Given the description of an element on the screen output the (x, y) to click on. 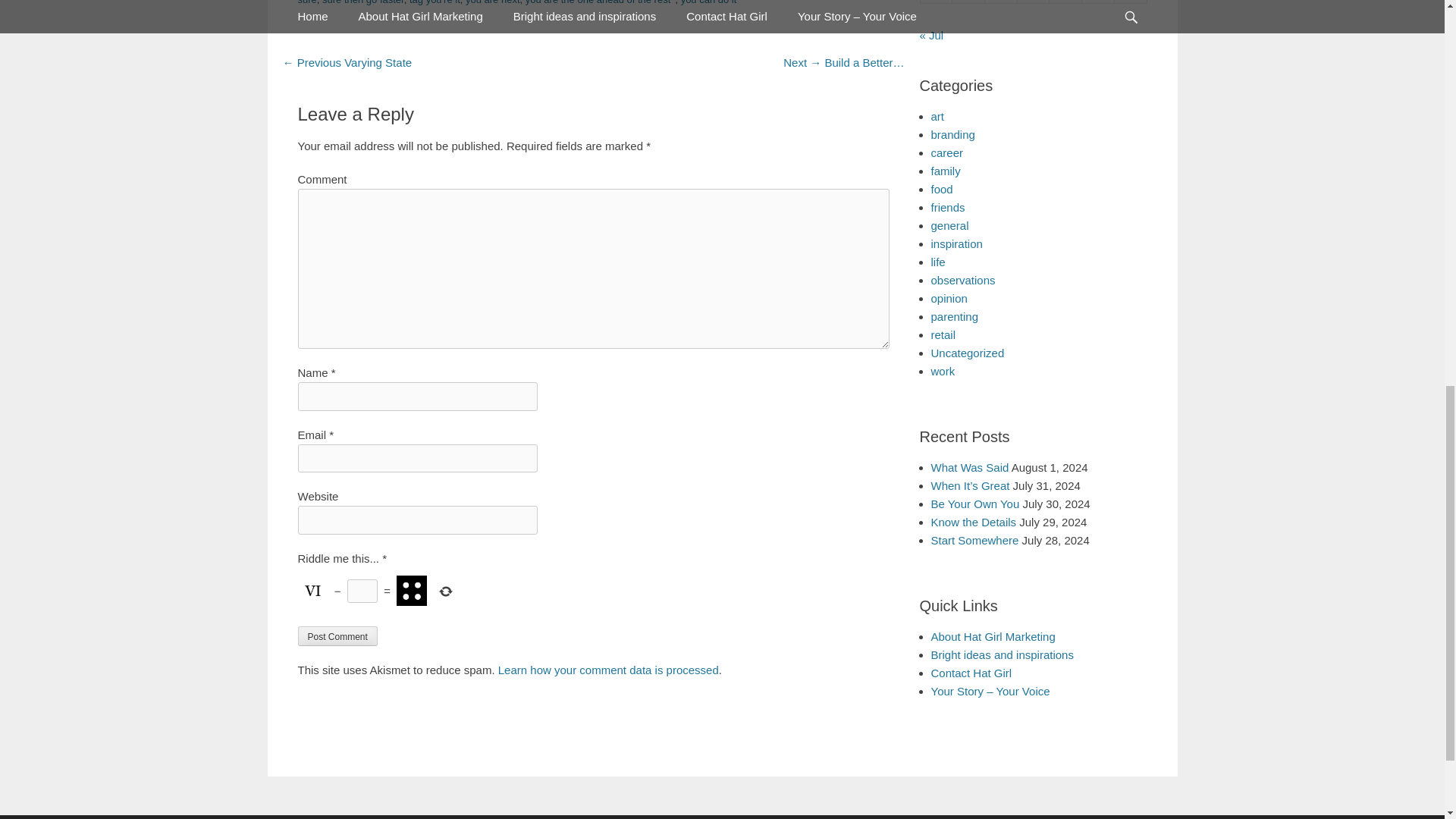
you can do it (708, 2)
Learn how your comment data is processed (608, 669)
tag you're it (434, 2)
Post Comment (337, 636)
you are the one ahead of the rest ' (600, 2)
Post Comment (337, 636)
sure then go faster (362, 2)
you are next (492, 2)
